Given the description of an element on the screen output the (x, y) to click on. 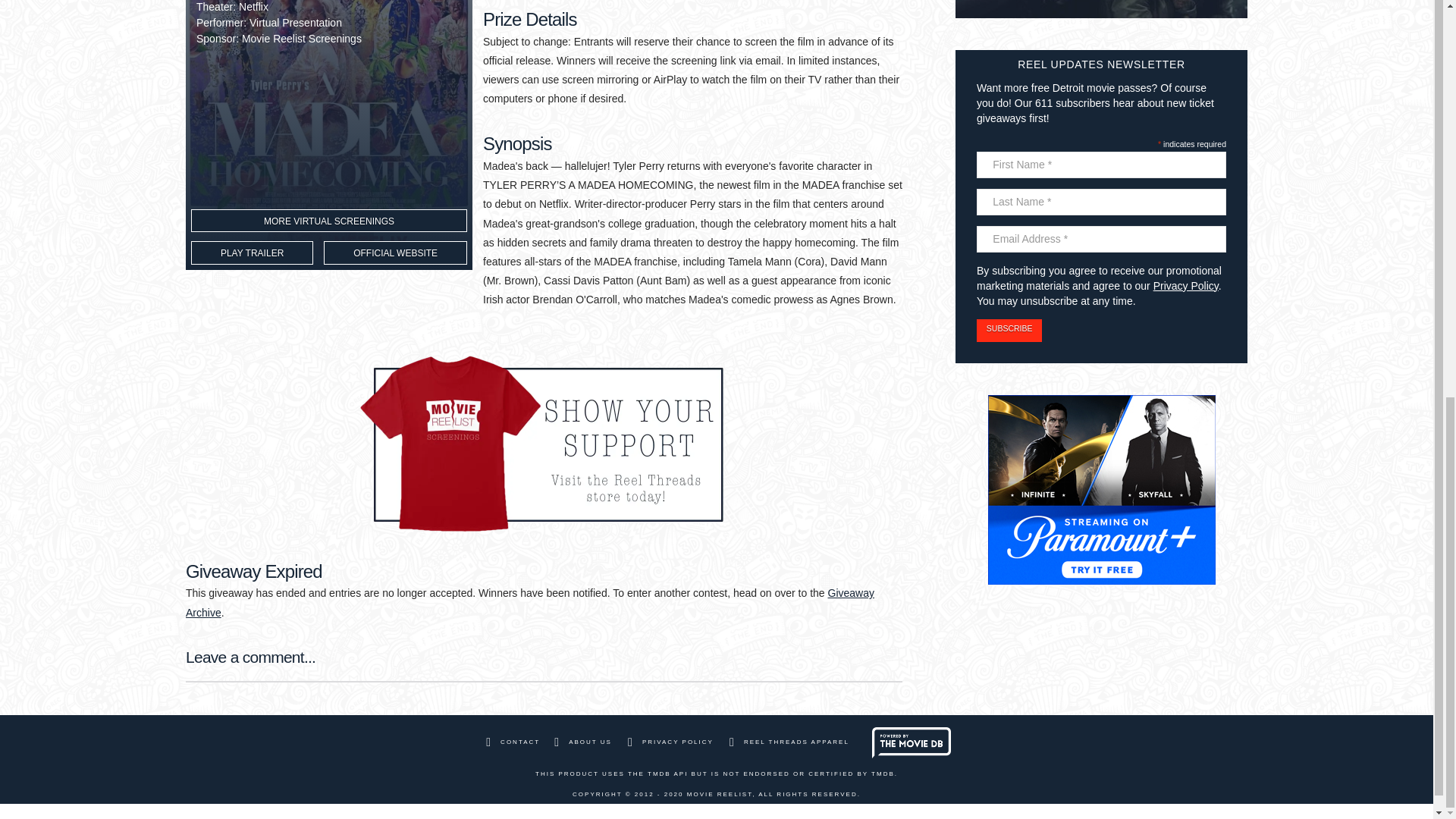
First Name (1100, 164)
Last Name (1100, 202)
Subscribe (1009, 330)
Email Address (1100, 239)
